Given the description of an element on the screen output the (x, y) to click on. 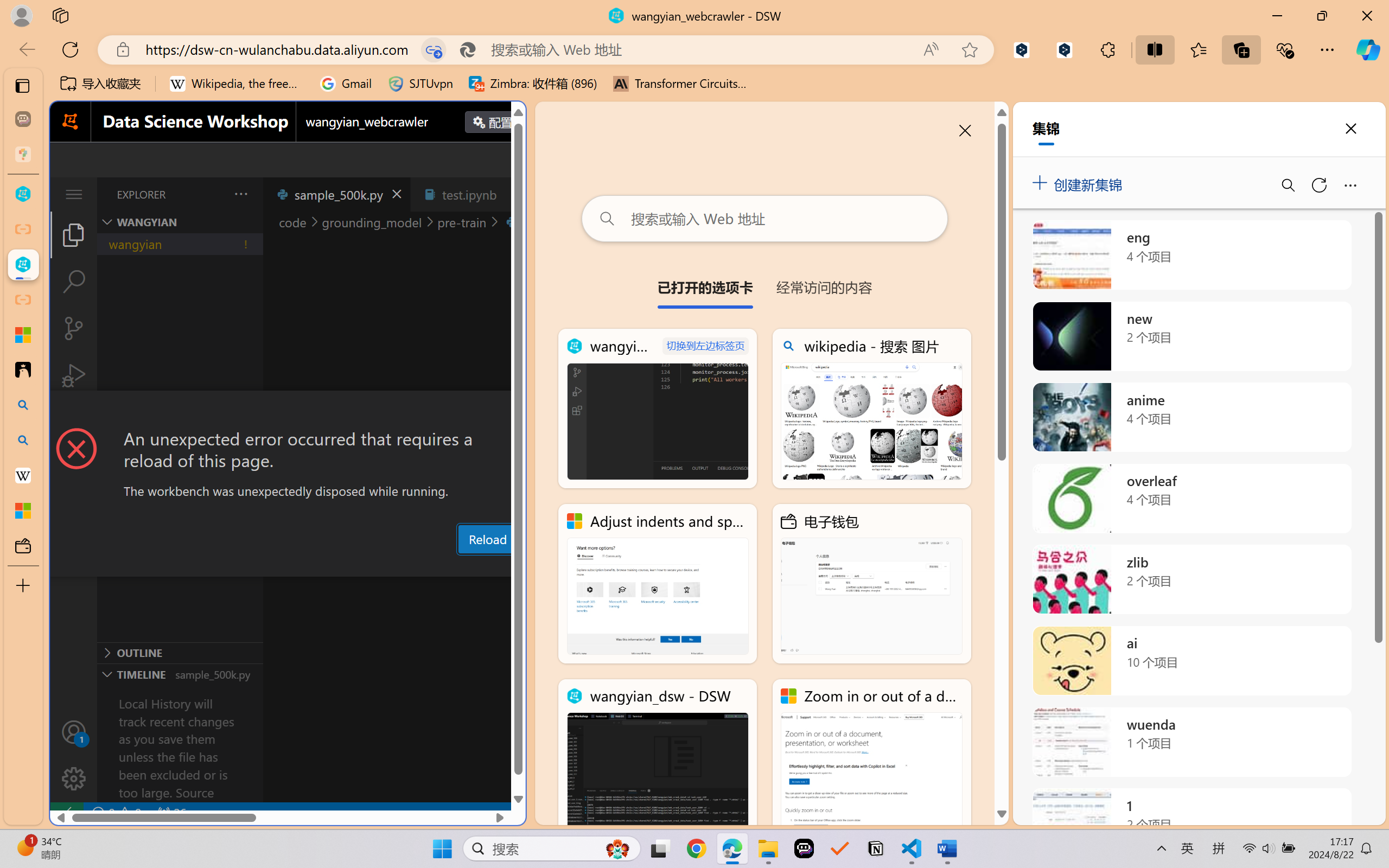
Tab actions (512, 194)
Explorer Section: wangyian (179, 221)
Wikipedia, the free encyclopedia (236, 83)
Explorer (Ctrl+Shift+E) (73, 234)
